Given the description of an element on the screen output the (x, y) to click on. 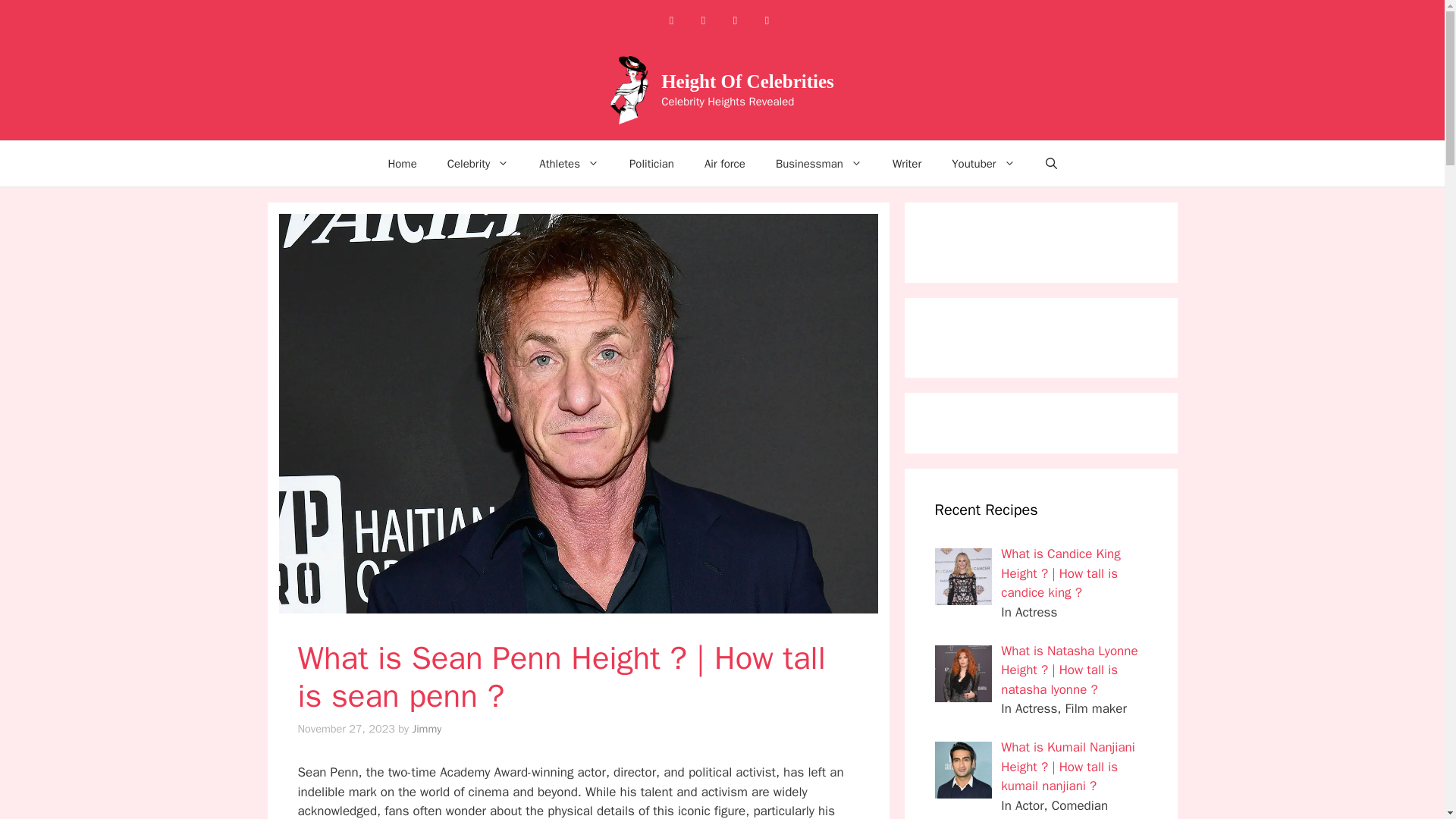
Politician (651, 163)
Home (401, 163)
Celebrity (478, 163)
View all posts by Jimmy (426, 728)
Writer (906, 163)
Instagram (703, 20)
Businessman (818, 163)
Air force (724, 163)
Facebook (671, 20)
Pinterest (735, 20)
Youtuber (982, 163)
Twitter (766, 20)
Height Of Celebrities (747, 81)
Athletes (569, 163)
